Given the description of an element on the screen output the (x, y) to click on. 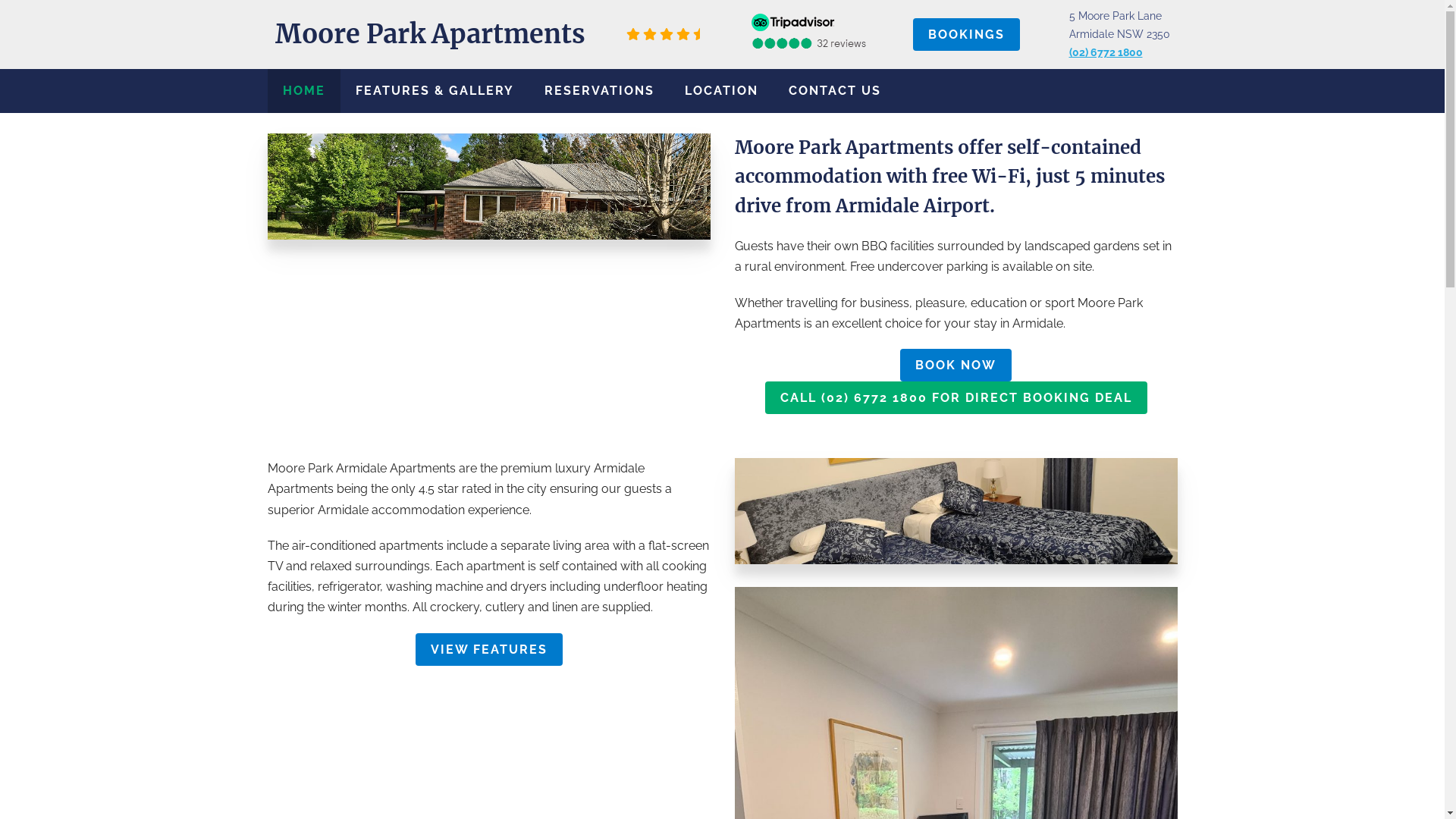
FEATURES & GALLERY Element type: text (433, 90)
(02) 6772 1800 Element type: text (1105, 52)
RESERVATIONS Element type: text (599, 90)
BOOKINGS Element type: text (966, 34)
LOCATION Element type: text (720, 90)
CALL (02) 6772 1800 FOR DIRECT BOOKING DEAL Element type: text (955, 397)
CONTACT US Element type: text (834, 90)
Moore Park Apartments Element type: text (429, 34)
BOOK NOW Element type: text (955, 364)
VIEW FEATURES Element type: text (488, 649)
HOME Element type: text (302, 90)
